Given the description of an element on the screen output the (x, y) to click on. 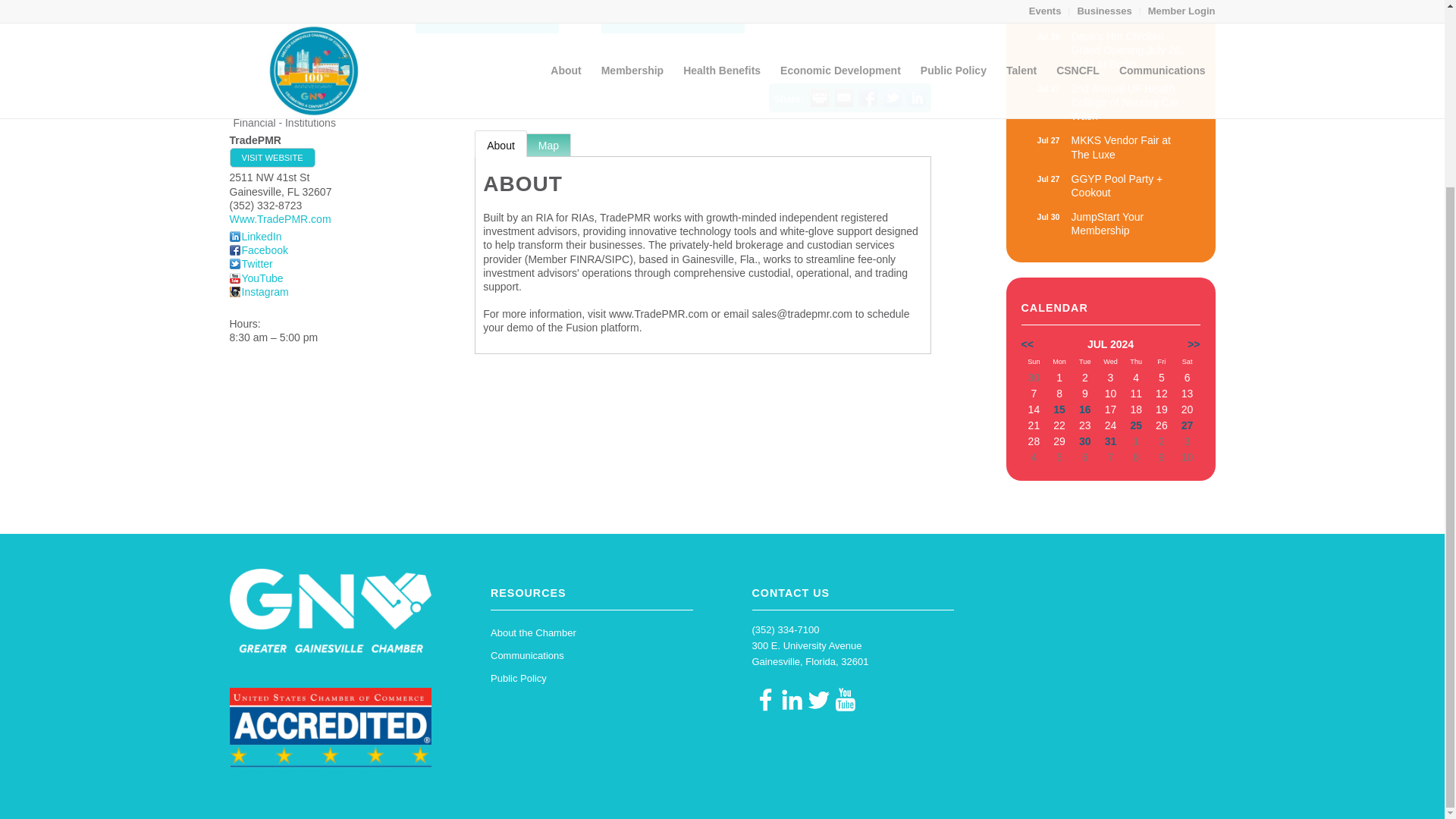
Visit TradePMR at LinkedIn (254, 236)
Print this page (1109, 102)
Share on Twitter (819, 97)
MKKS Vendor Fair at The Luxe (892, 97)
Share by Email (1109, 146)
Visit the website of TradePMR (843, 97)
Dave's Hot Chicken Grand Opening July 26, 2024 at Butler (271, 157)
Jul 27 (1109, 50)
Visit TradePMR at Twitter (1048, 140)
JumpStart Your Membership (250, 263)
Visit TradePMR at Facebook (1109, 223)
Visit the website of TradePMR (257, 250)
2nd Annual UF Health College of Nursing Car Wash (279, 218)
Visit TradePMR at YouTube (1109, 102)
